Given the description of an element on the screen output the (x, y) to click on. 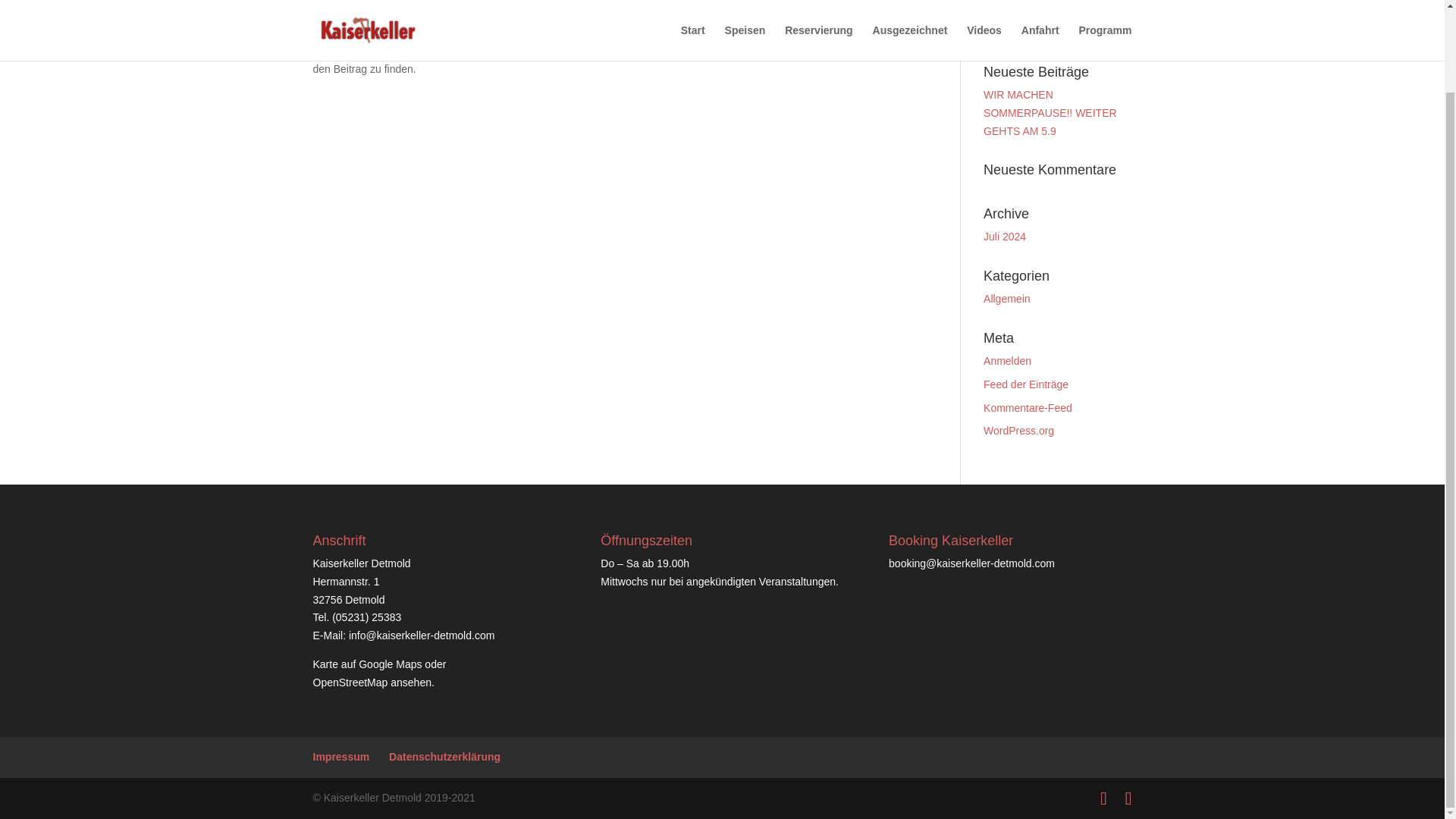
Suche (1107, 27)
Allgemein (1006, 298)
Kommentare-Feed (1027, 408)
Suche (1107, 27)
Google Maps (390, 664)
WIR MACHEN SOMMERPAUSE!! WEITER GEHTS AM 5.9 (1050, 112)
WordPress.org (1019, 430)
Juli 2024 (1005, 236)
Impressum (341, 756)
OpenStreetMap (350, 682)
Anmelden (1007, 360)
